Given the description of an element on the screen output the (x, y) to click on. 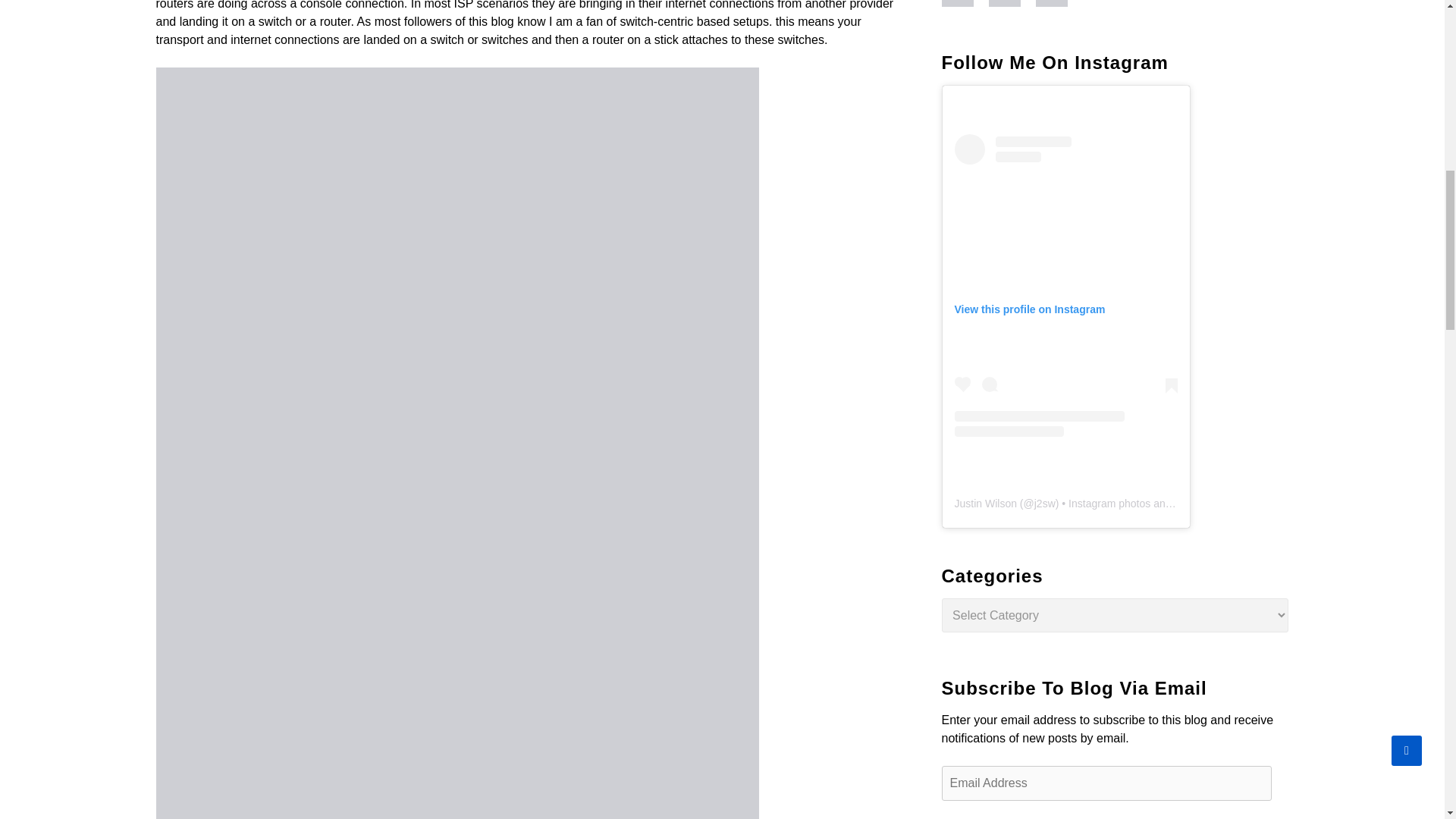
Google-Play (1011, 3)
Spotify (1059, 3)
iTunes (965, 3)
